Given the description of an element on the screen output the (x, y) to click on. 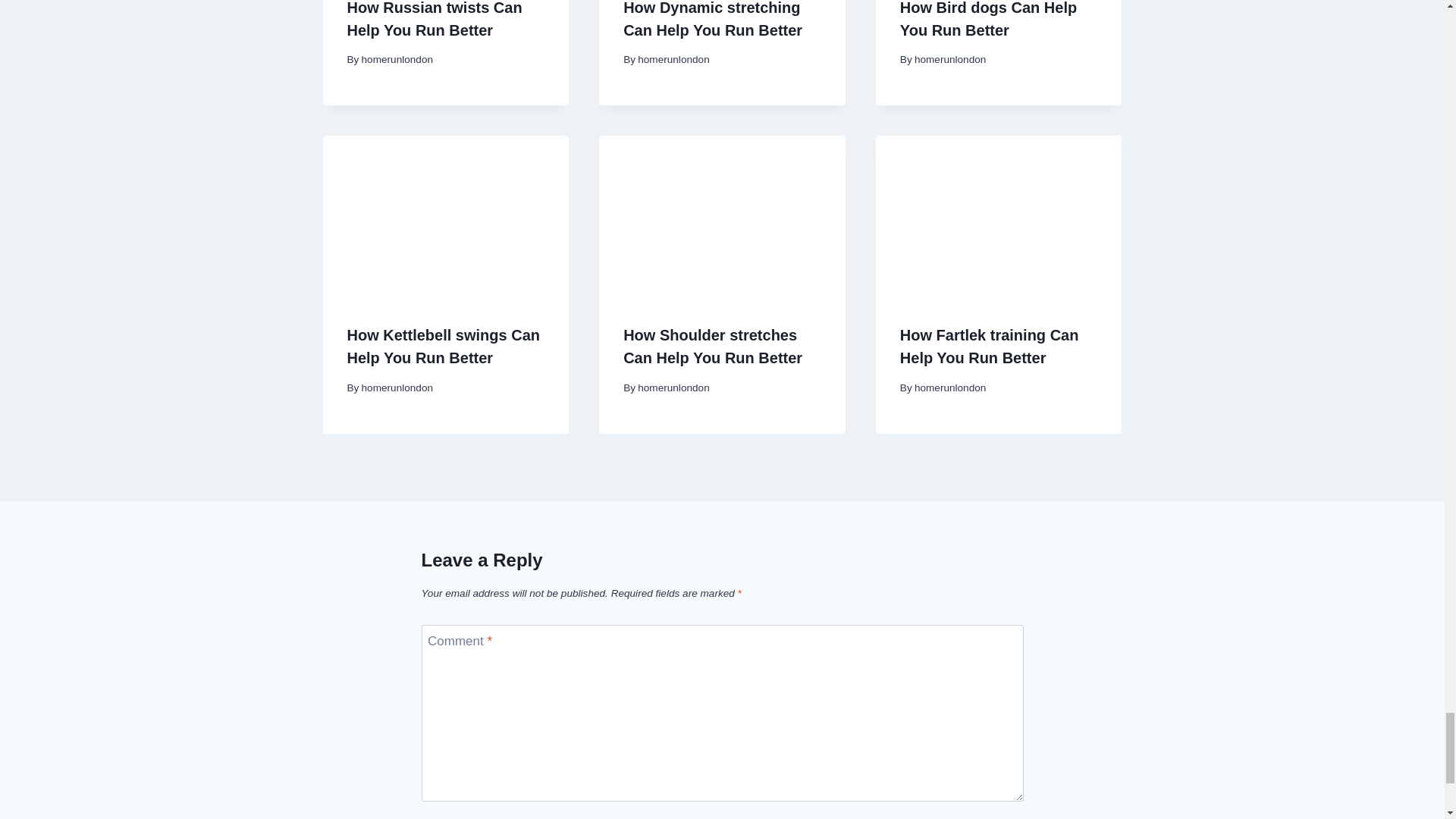
How Shoulder stretches Can Help You Run Better (712, 346)
How Kettlebell swings Can Help You Run Better (443, 346)
homerunlondon (396, 59)
homerunlondon (396, 387)
How Dynamic stretching Can Help You Run Better (712, 19)
How Bird dogs Can Help You Run Better (988, 19)
How Russian twists Can Help You Run Better (434, 19)
homerunlondon (673, 59)
homerunlondon (949, 59)
